Given the description of an element on the screen output the (x, y) to click on. 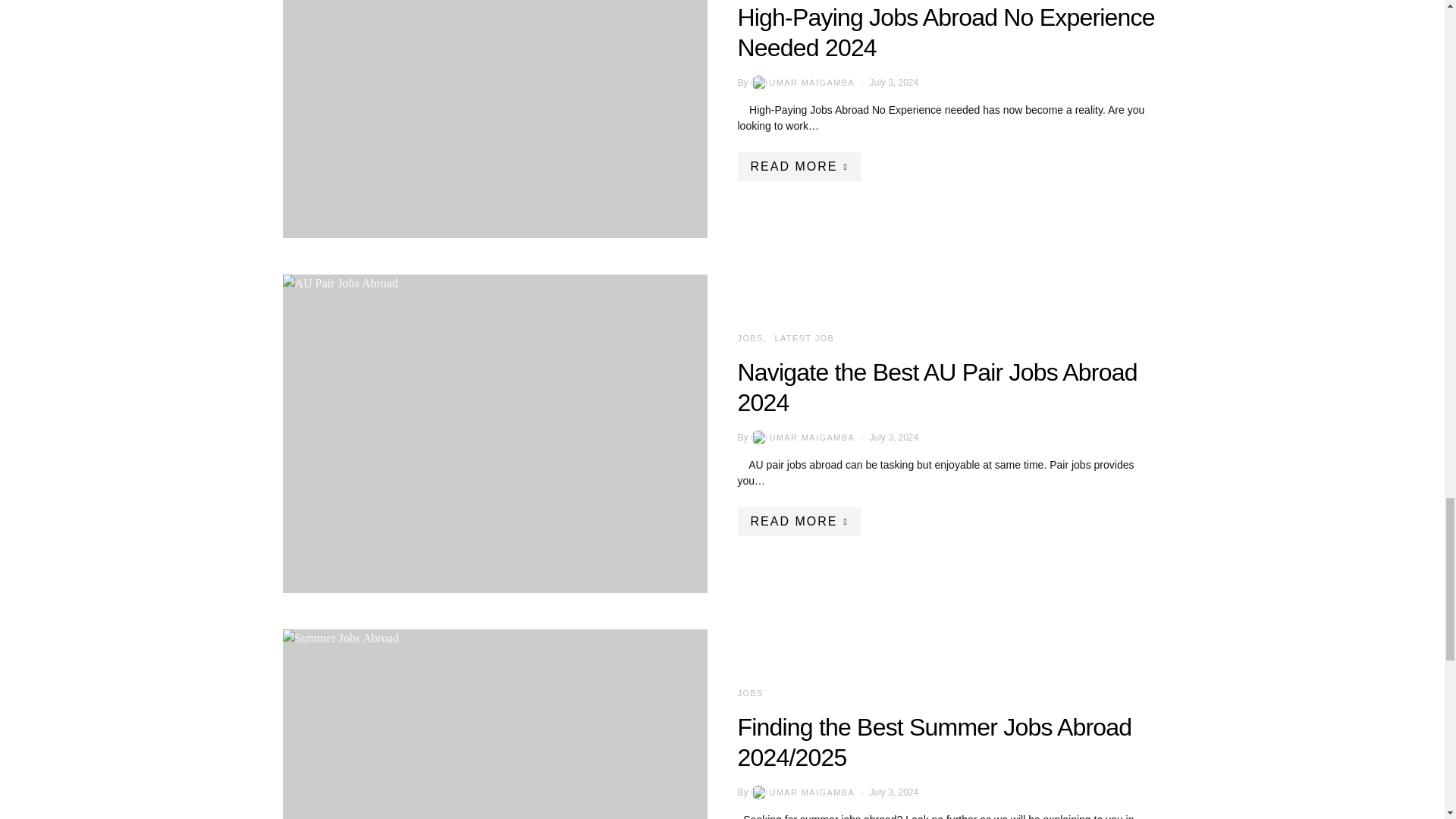
View all posts by Umar Maigamba (802, 792)
View all posts by Umar Maigamba (802, 82)
View all posts by Umar Maigamba (802, 437)
